Given the description of an element on the screen output the (x, y) to click on. 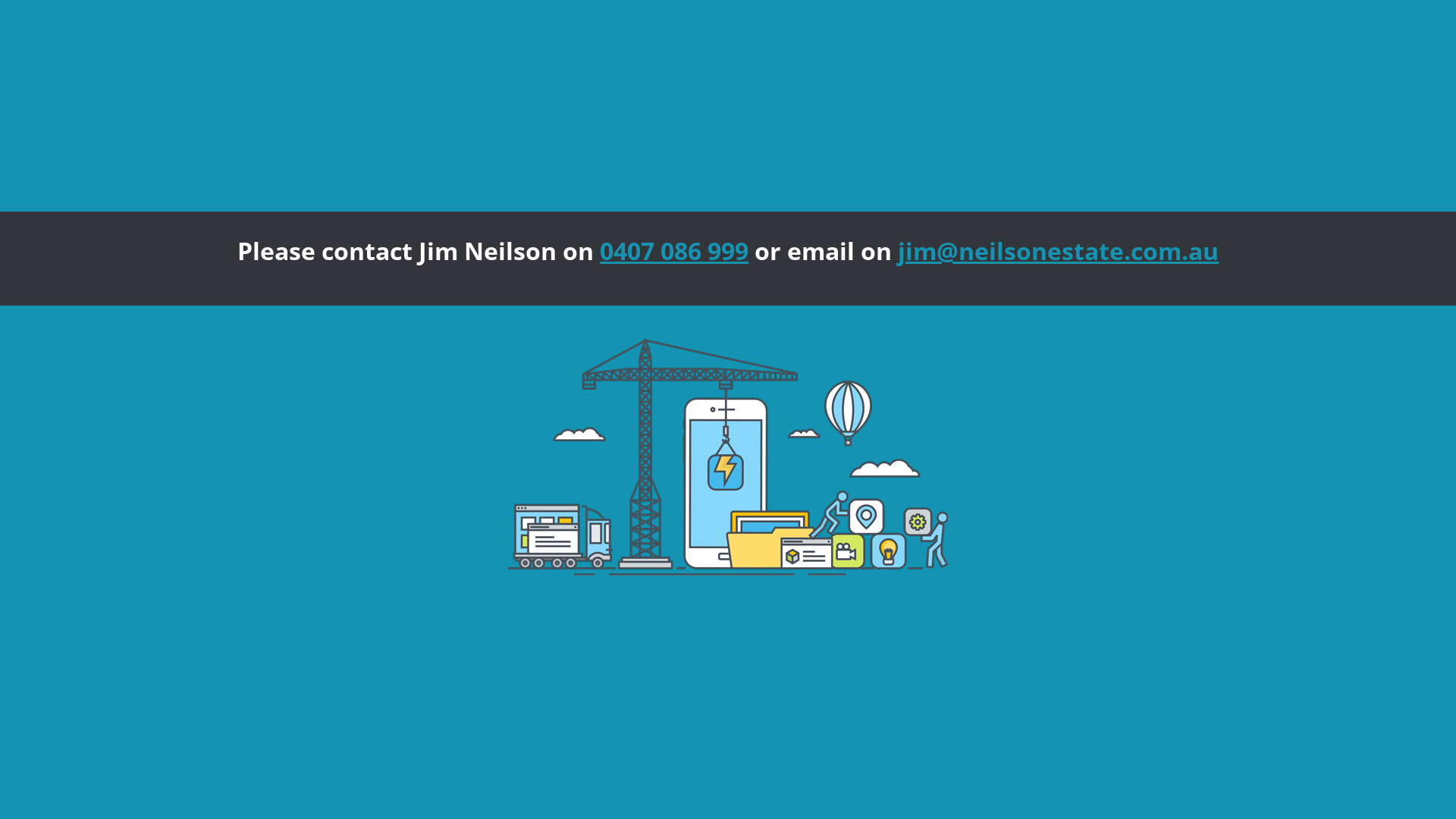
jim@neilsonestate.com.au Element type: text (1057, 250)
0407 086 999 Element type: text (673, 250)
